Given the description of an element on the screen output the (x, y) to click on. 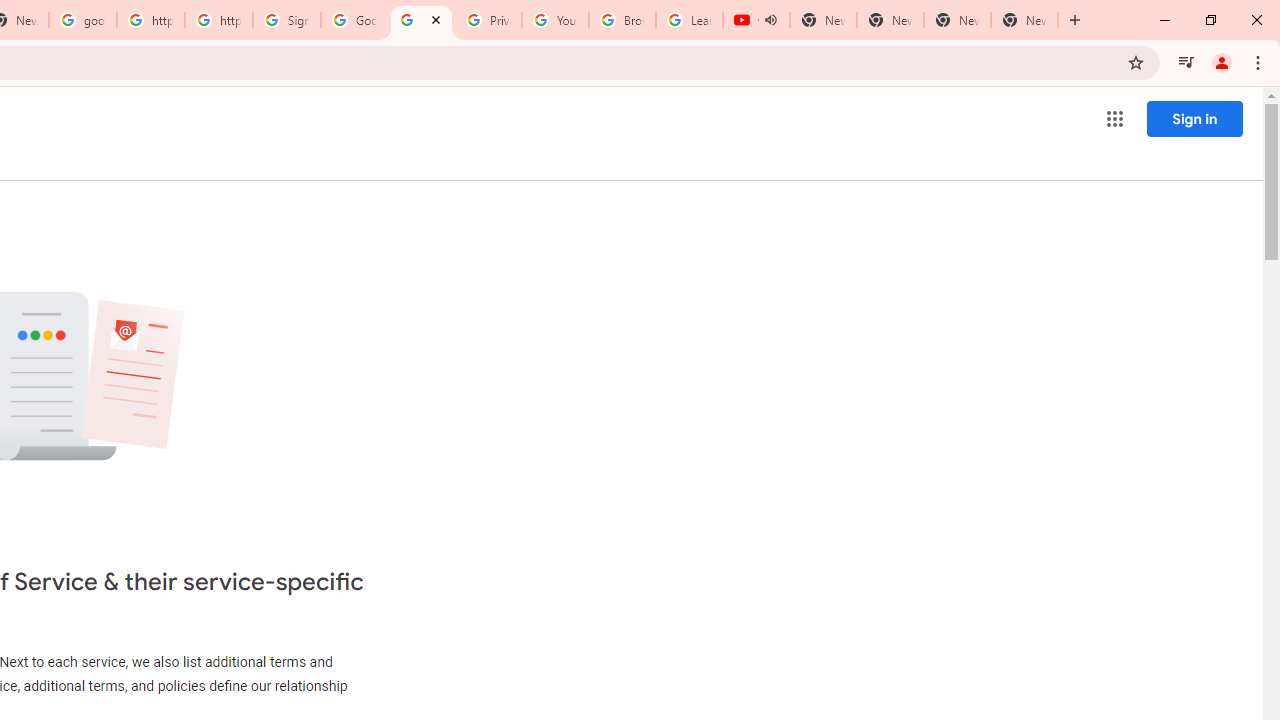
YouTube (555, 20)
https://scholar.google.com/ (150, 20)
